Given the description of an element on the screen output the (x, y) to click on. 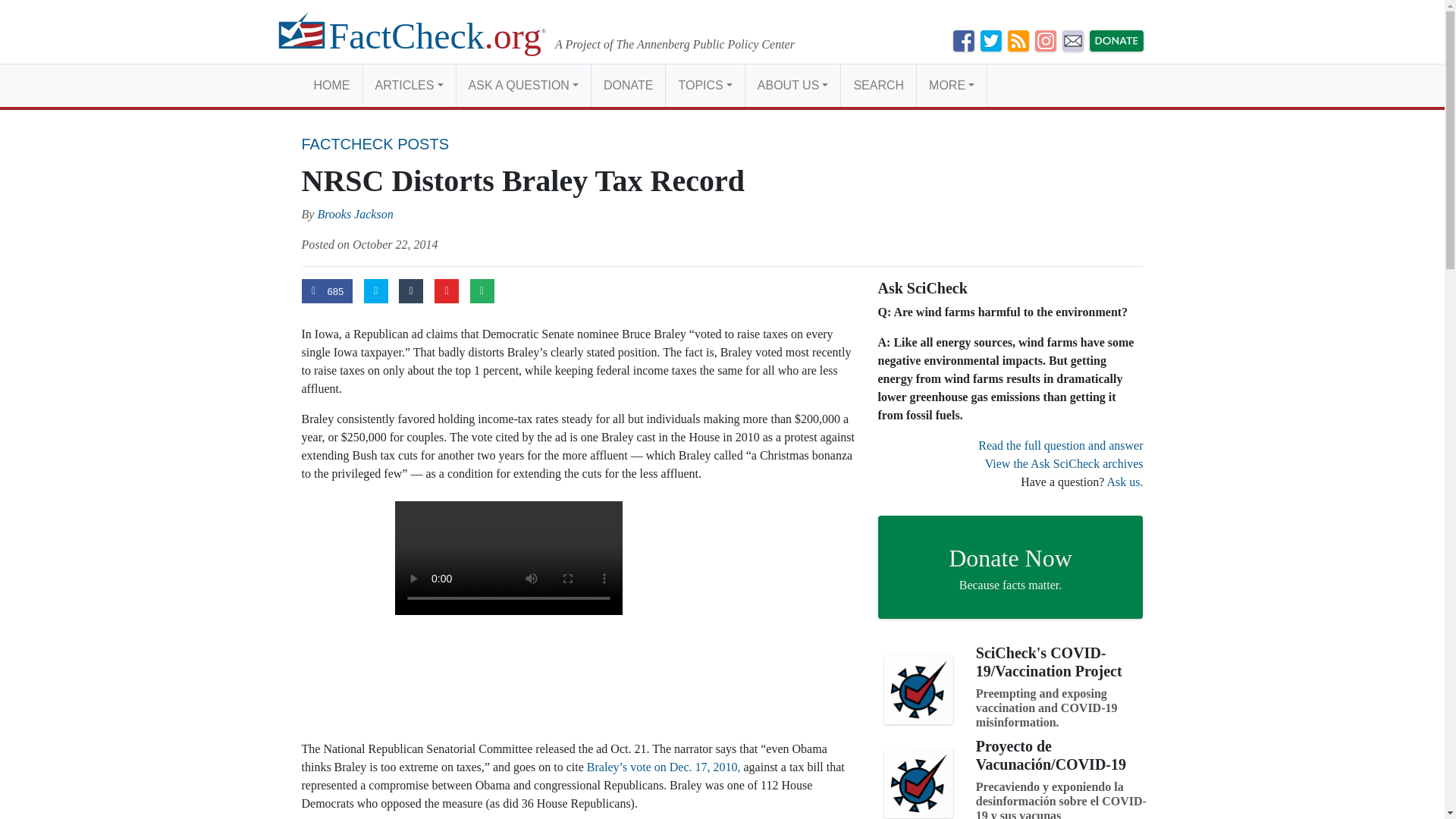
Ask a Question (524, 85)
ASK A QUESTION (524, 85)
DONATE (627, 85)
ARTICLES (408, 85)
Home (331, 85)
TOPICS (704, 85)
Articles (408, 85)
ABOUT US (792, 85)
Topics (704, 85)
HOME (331, 85)
